Given the description of an element on the screen output the (x, y) to click on. 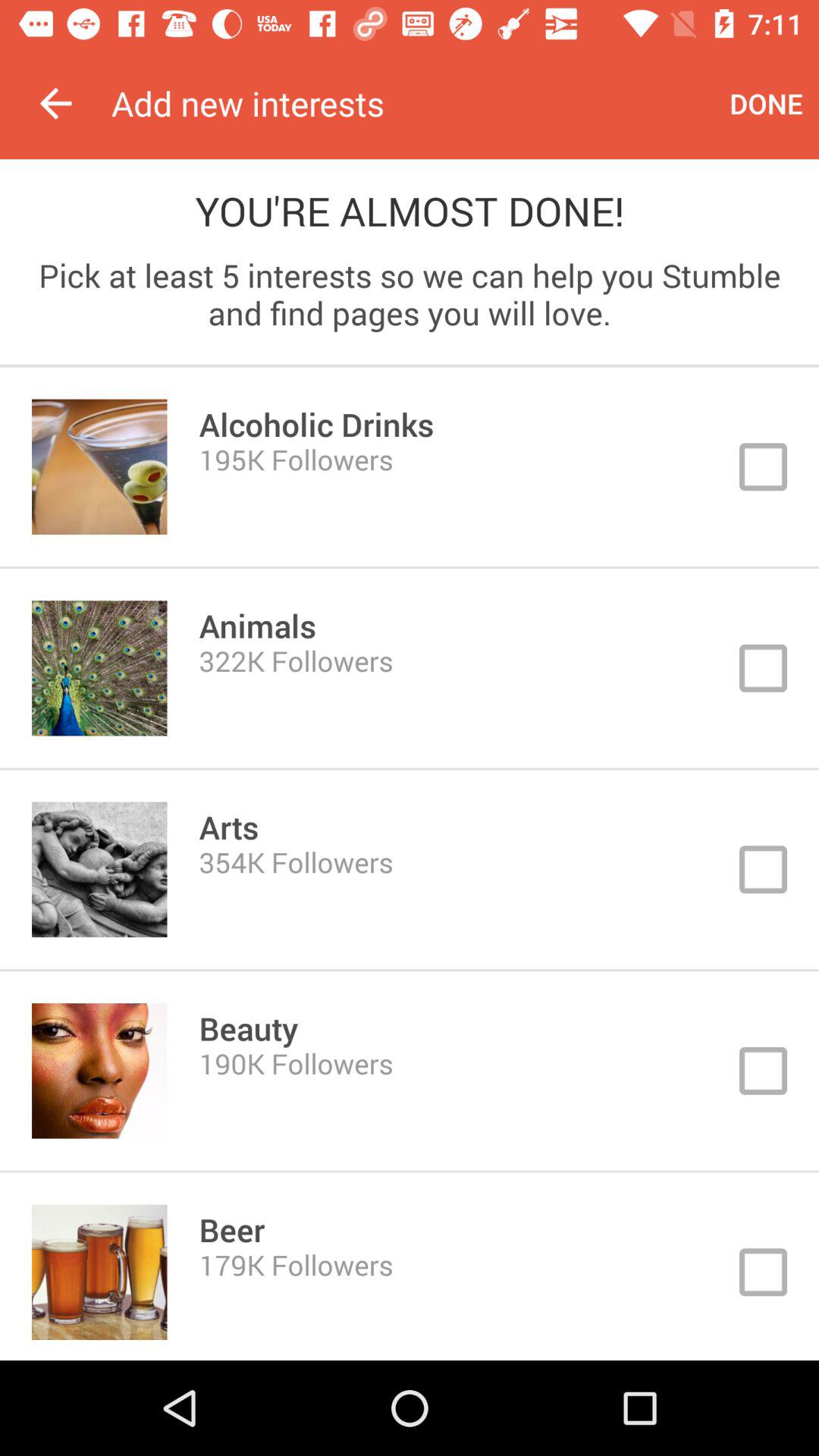
select option (409, 869)
